Given the description of an element on the screen output the (x, y) to click on. 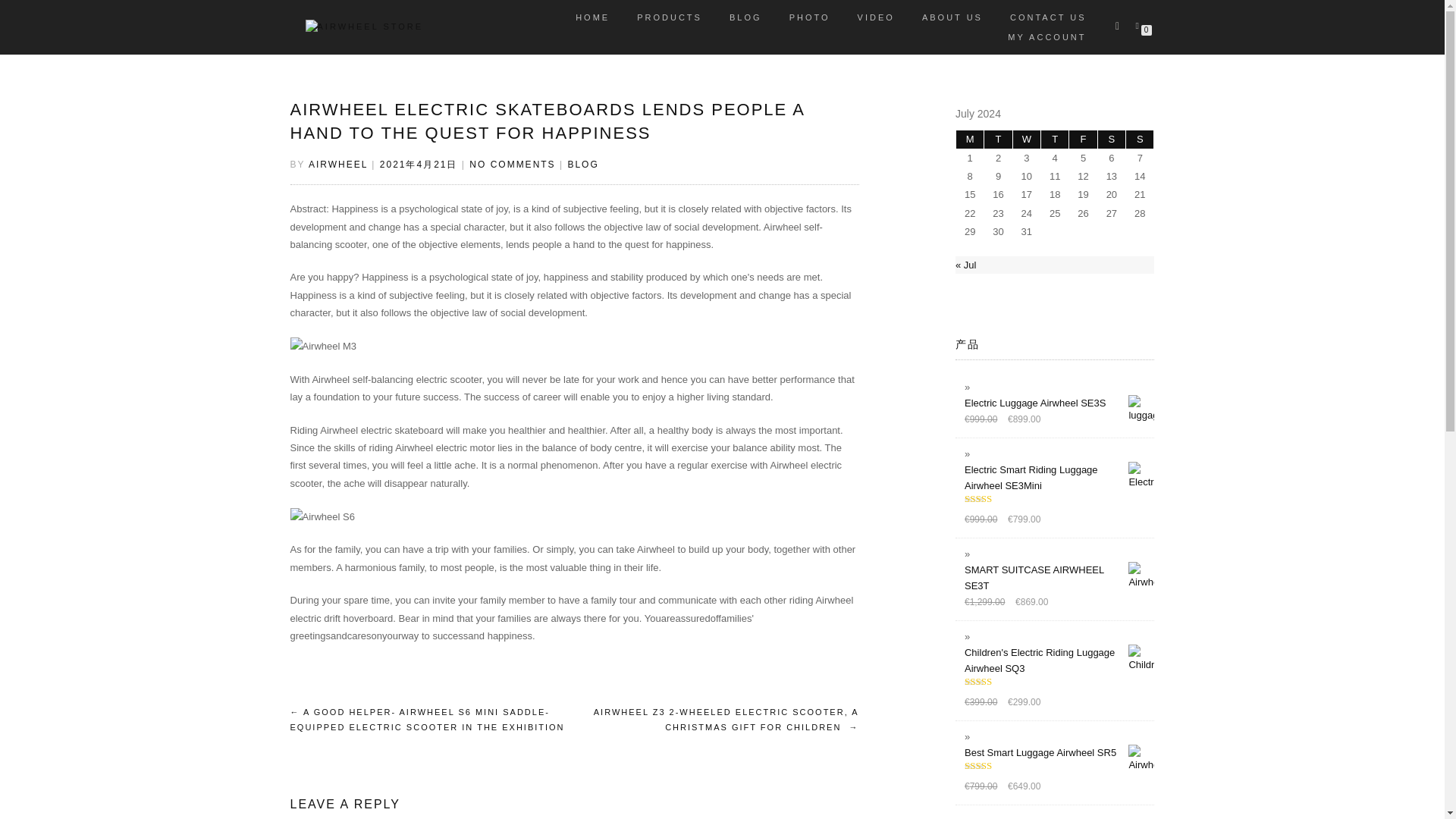
Electric Luggage Airwheel SE3S (1058, 402)
Saturday (1111, 139)
Electric Smart Riding Luggage Airwheel SE3Mini (1058, 477)
Tuesday (997, 139)
PRODUCTS (669, 17)
BLOG (745, 17)
ABOUT US (952, 17)
SMART SUITCASE AIRWHEEL SE3T (1058, 577)
HOME (592, 17)
CONTACT US (1047, 17)
Sunday (1139, 139)
MY ACCOUNT (1046, 36)
VIDEO (875, 17)
Best Smart Luggage Airwheel SR5 (1058, 752)
PHOTO (809, 17)
